Given the description of an element on the screen output the (x, y) to click on. 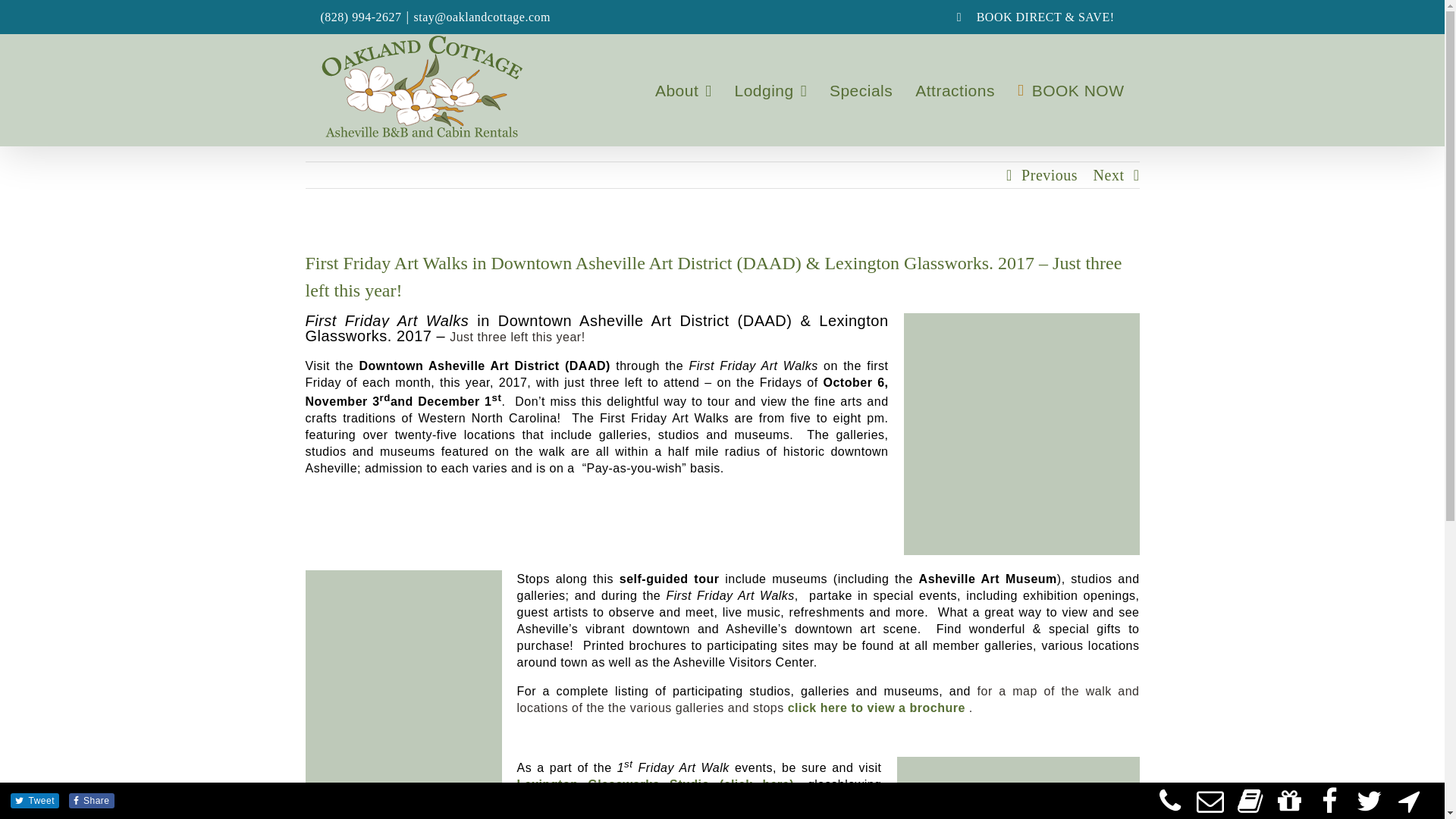
click here to view a brochure (876, 707)
Share (96, 800)
Previous (1049, 175)
Next (1108, 175)
BOOK NOW (1070, 90)
Tweet (42, 800)
